Given the description of an element on the screen output the (x, y) to click on. 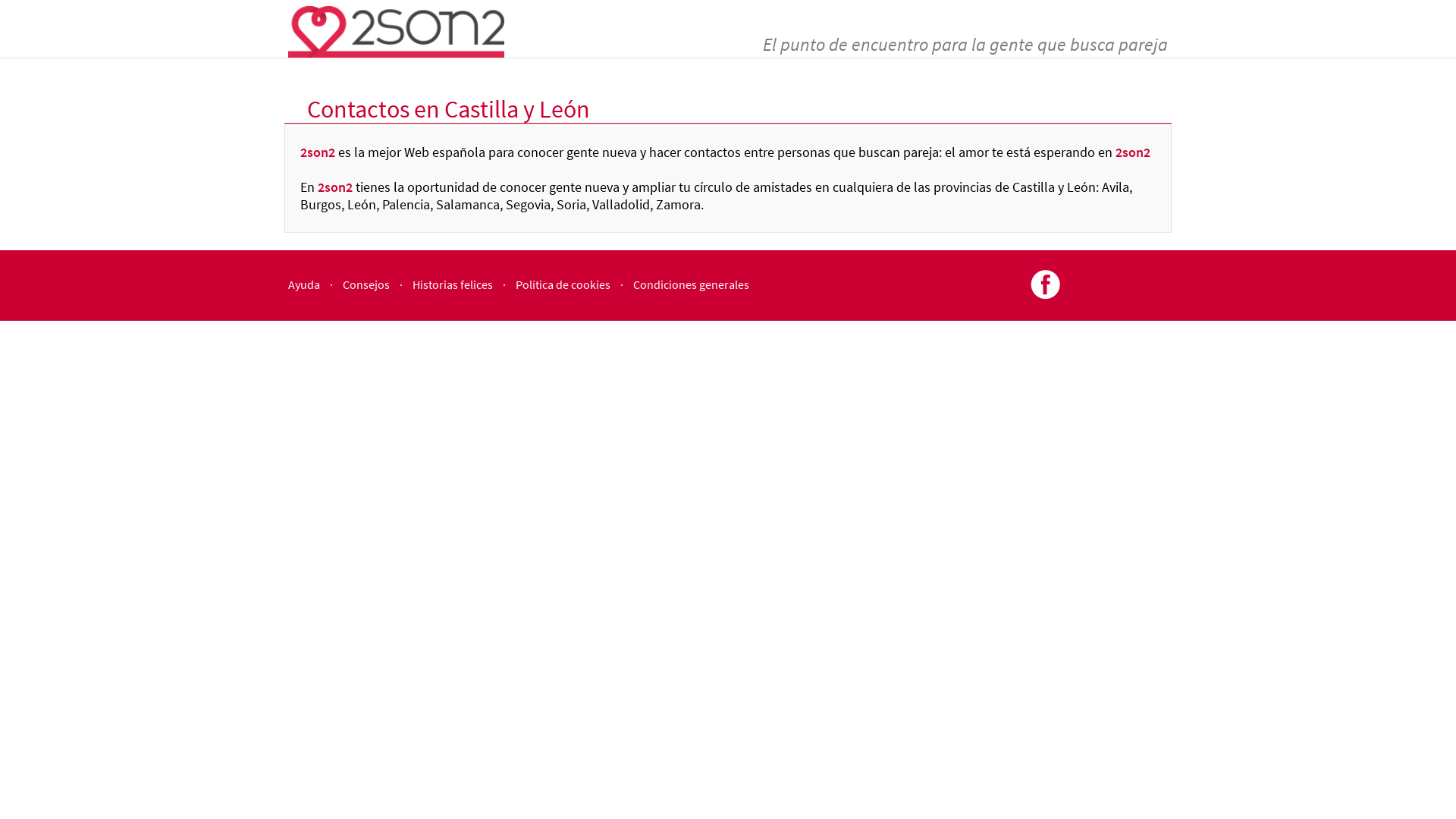
Condiciones generales Element type: text (691, 283)
Historias felices Element type: text (452, 283)
Consejos Element type: text (365, 283)
Ayuda Element type: text (304, 283)
